Given the description of an element on the screen output the (x, y) to click on. 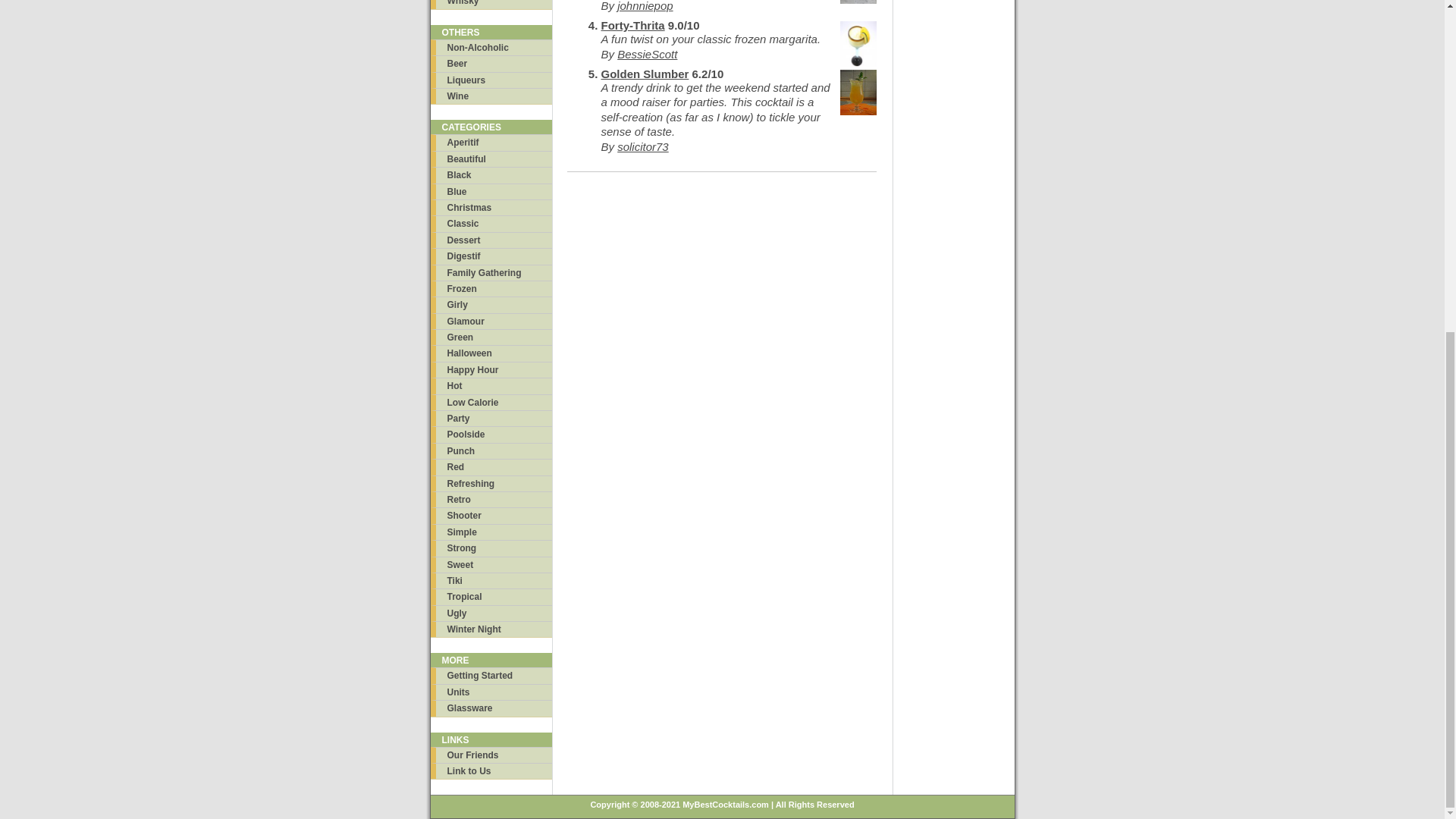
Beautiful (490, 158)
Whisky (490, 4)
Non-Alcoholic (490, 47)
Aperitif (490, 141)
Beer (490, 63)
Wine (490, 95)
Christmas (490, 207)
Liqueurs (490, 79)
Blue (490, 191)
Black (490, 174)
